Given the description of an element on the screen output the (x, y) to click on. 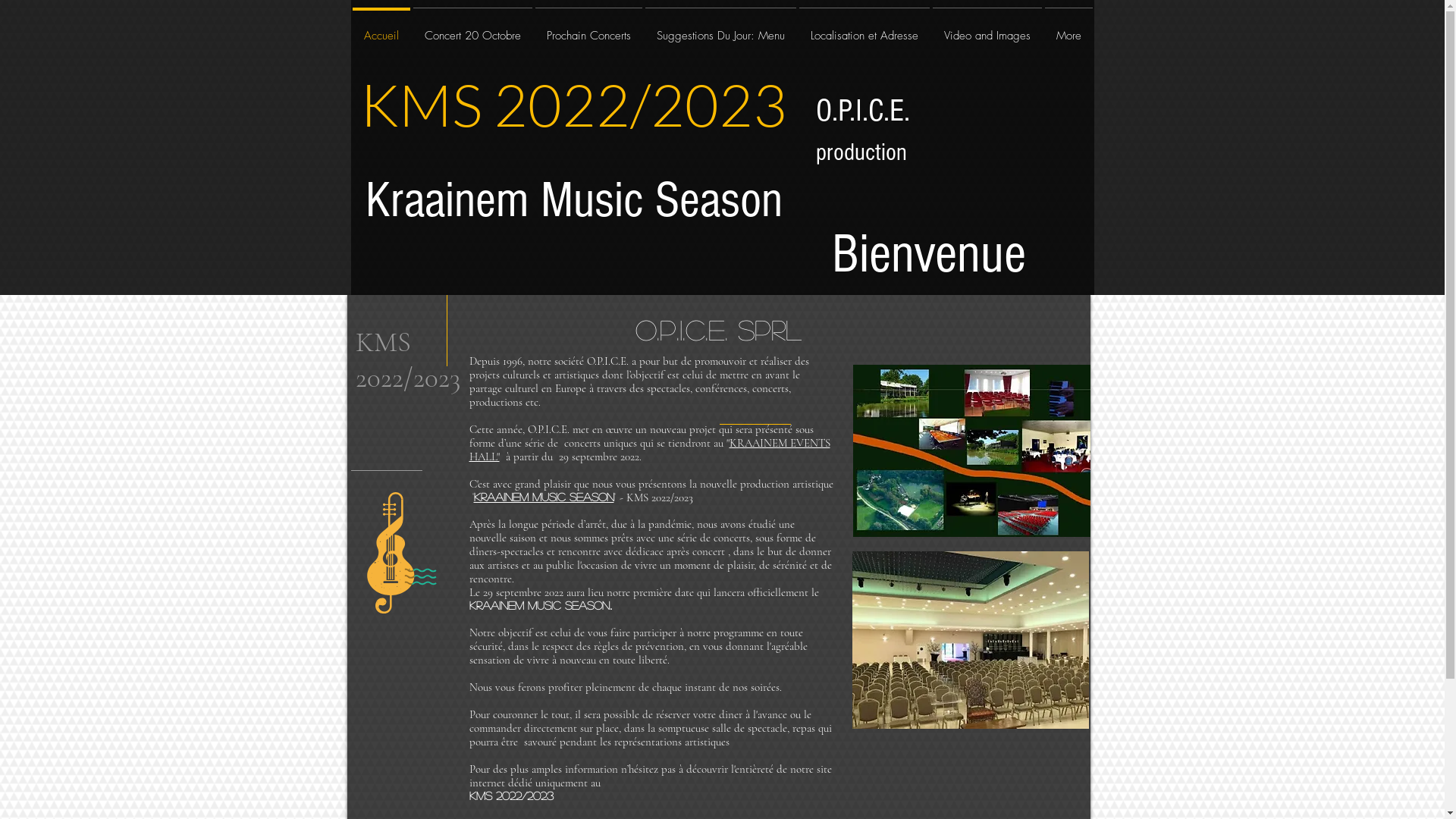
Kraainem Music season Element type: text (543, 496)
IMAGE 1 EVENTS HALL.jpg Element type: hover (970, 639)
KRAAINEM EVENTS HALL" Element type: text (648, 449)
Concert 20 Octobre Element type: text (472, 28)
Accueil Element type: text (380, 28)
Prochain Concerts Element type: text (588, 28)
Video and Images Element type: text (987, 28)
Localisation et Adresse Element type: text (864, 28)
Suggestions Du Jour: Menu Element type: text (720, 28)
Image2 EVENTS HALL.jpg Element type: hover (970, 450)
